Given the description of an element on the screen output the (x, y) to click on. 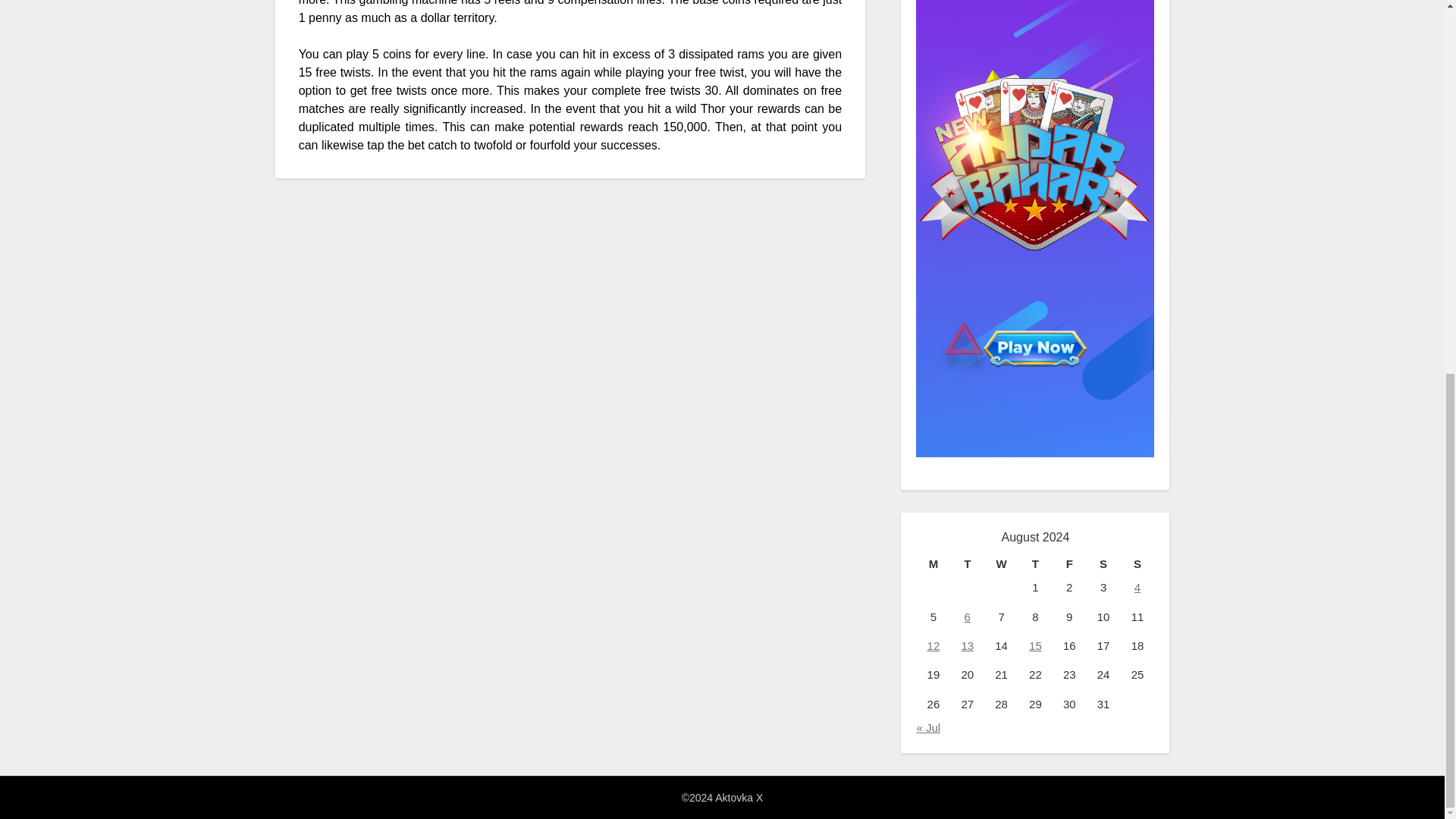
15 (1035, 645)
Friday (1069, 564)
Monday (932, 564)
Saturday (1103, 564)
Tuesday (967, 564)
12 (933, 645)
Wednesday (1000, 564)
Thursday (1034, 564)
Sunday (1137, 564)
13 (967, 645)
